Given the description of an element on the screen output the (x, y) to click on. 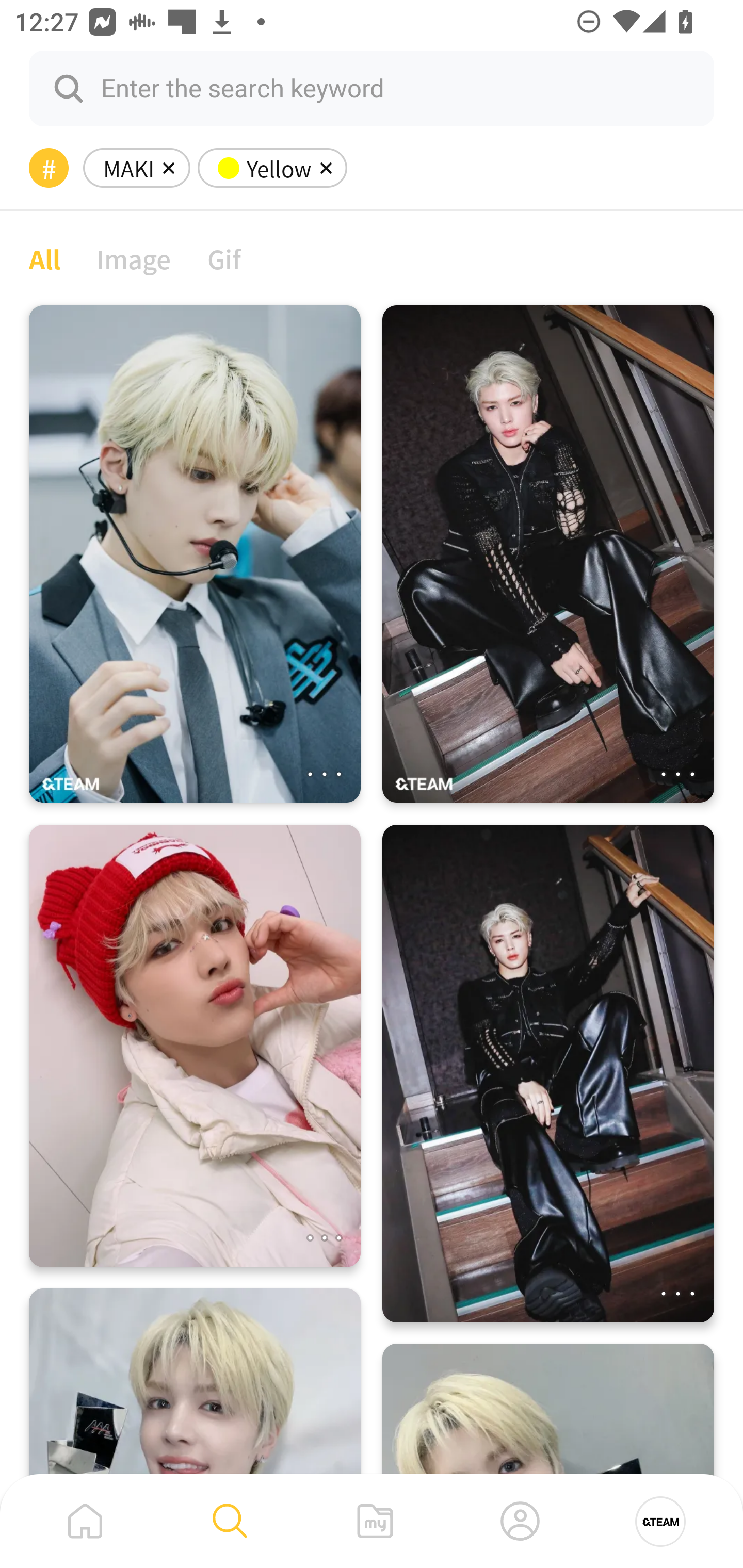
All (44, 257)
Image (133, 257)
Gif (223, 257)
